Given the description of an element on the screen output the (x, y) to click on. 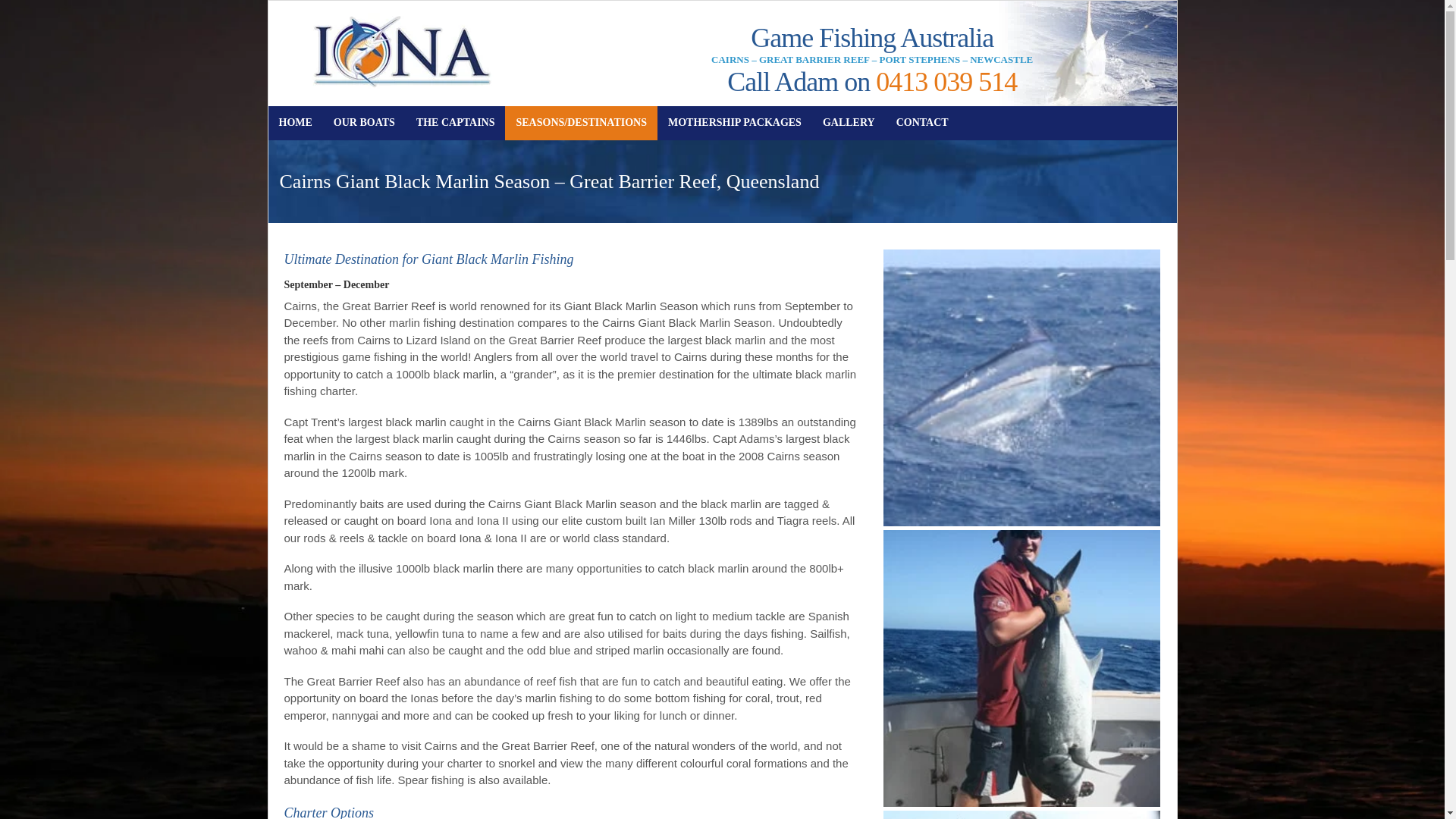
cairns_fishing_2 Element type: hover (1021, 668)
OUR BOATS Element type: text (364, 123)
CONTACT Element type: text (922, 123)
MOTHERSHIP PACKAGES Element type: text (734, 123)
SEASONS/DESTINATIONS Element type: text (580, 123)
HOME Element type: text (295, 123)
cairns_marlin_fishing_2 Element type: hover (1021, 387)
GALLERY Element type: text (848, 123)
THE CAPTAINS Element type: text (455, 123)
0413 039 514 Element type: text (945, 81)
